Given the description of an element on the screen output the (x, y) to click on. 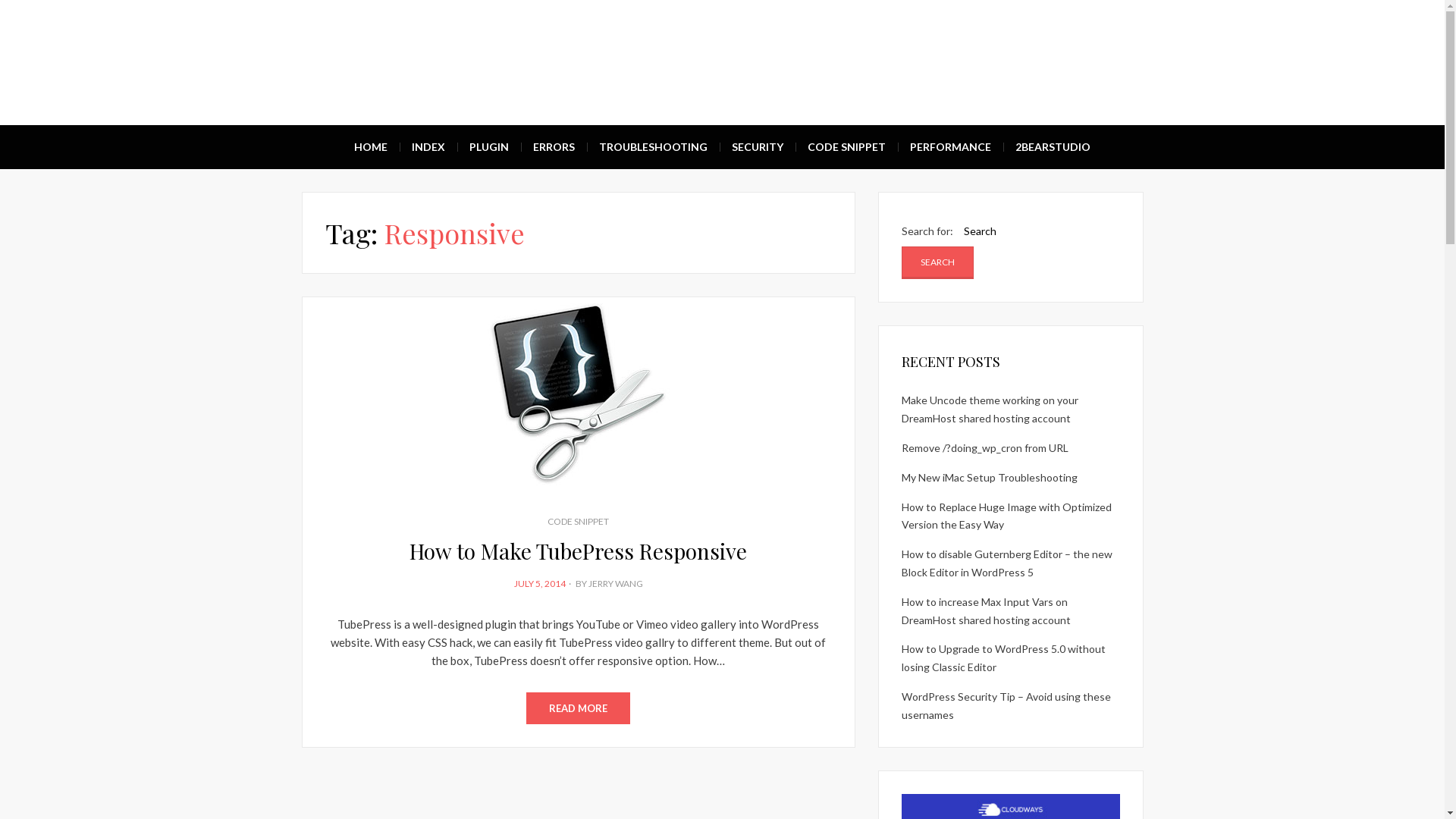
2BEARSTUDIO Element type: text (1052, 147)
INDEX Element type: text (428, 147)
SECURITY Element type: text (757, 147)
PLUGIN Element type: text (488, 147)
CODE SNIPPET Element type: text (577, 521)
READ MORE Element type: text (578, 708)
Remove /?doing_wp_cron from URL Element type: text (983, 447)
CODE SNIPPET Element type: text (846, 147)
ERRORS Element type: text (553, 147)
My New iMac Setup Troubleshooting Element type: text (988, 476)
JULY 5, 2014 Element type: text (539, 583)
JERRY WANG Element type: text (615, 583)
WORDPRESS OPTIMIZED! Element type: text (532, 49)
TROUBLESHOOTING Element type: text (652, 147)
How to Make TubePress Responsive Element type: text (577, 550)
HOME Element type: text (370, 147)
Search Element type: text (936, 262)
PERFORMANCE Element type: text (950, 147)
